Given the description of an element on the screen output the (x, y) to click on. 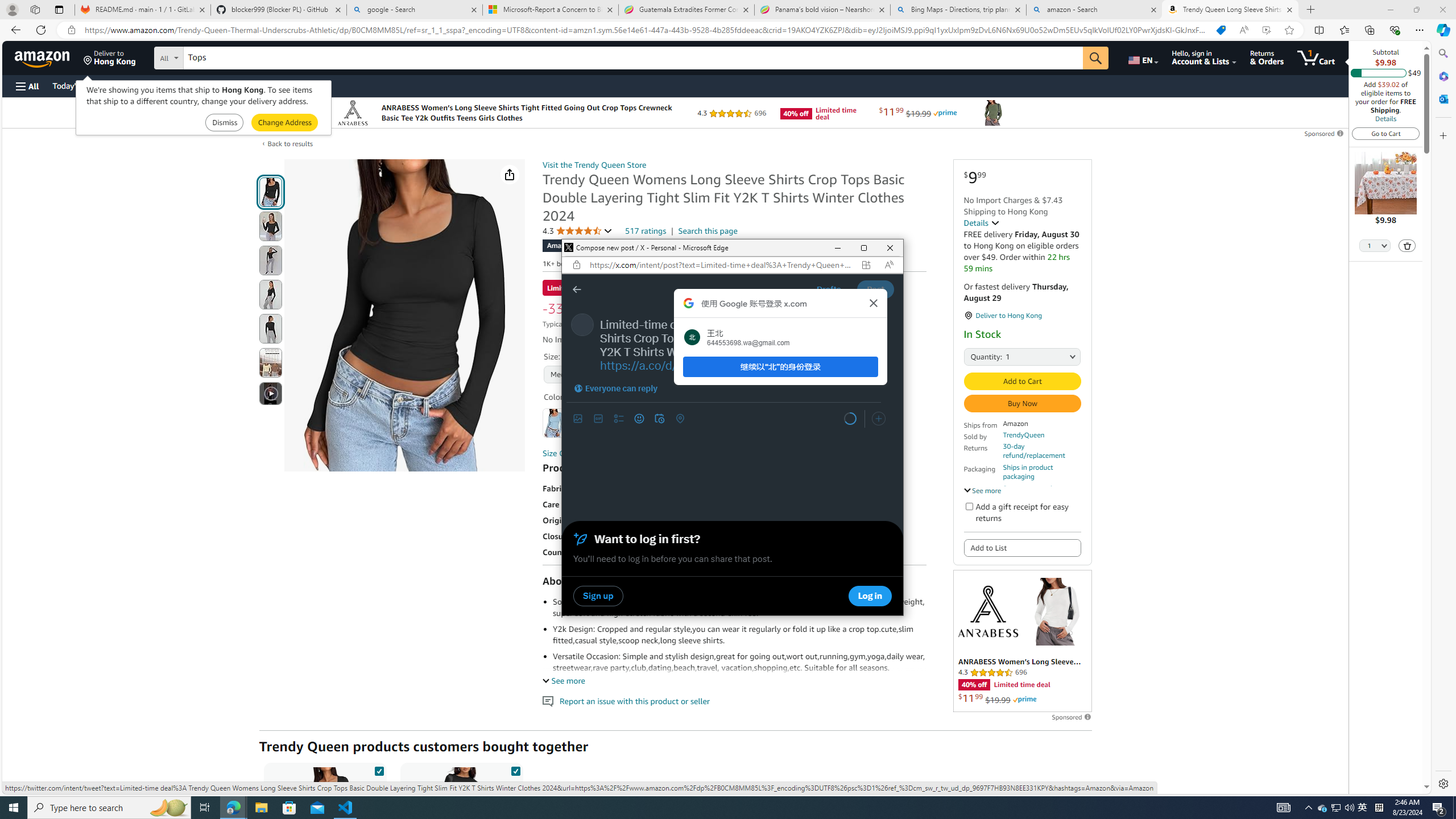
Add poll (618, 418)
Q2790: 100% (1349, 807)
Submit (284, 122)
Search highlights icon opens search home window (167, 807)
1 item in cart (1315, 57)
4.3 4.3 out of 5 stars (577, 230)
Add post (878, 418)
Class: Bz112c Bz112c-r9oPif (873, 302)
Start (13, 807)
Back to results (290, 144)
Search Amazon (633, 57)
